Given the description of an element on the screen output the (x, y) to click on. 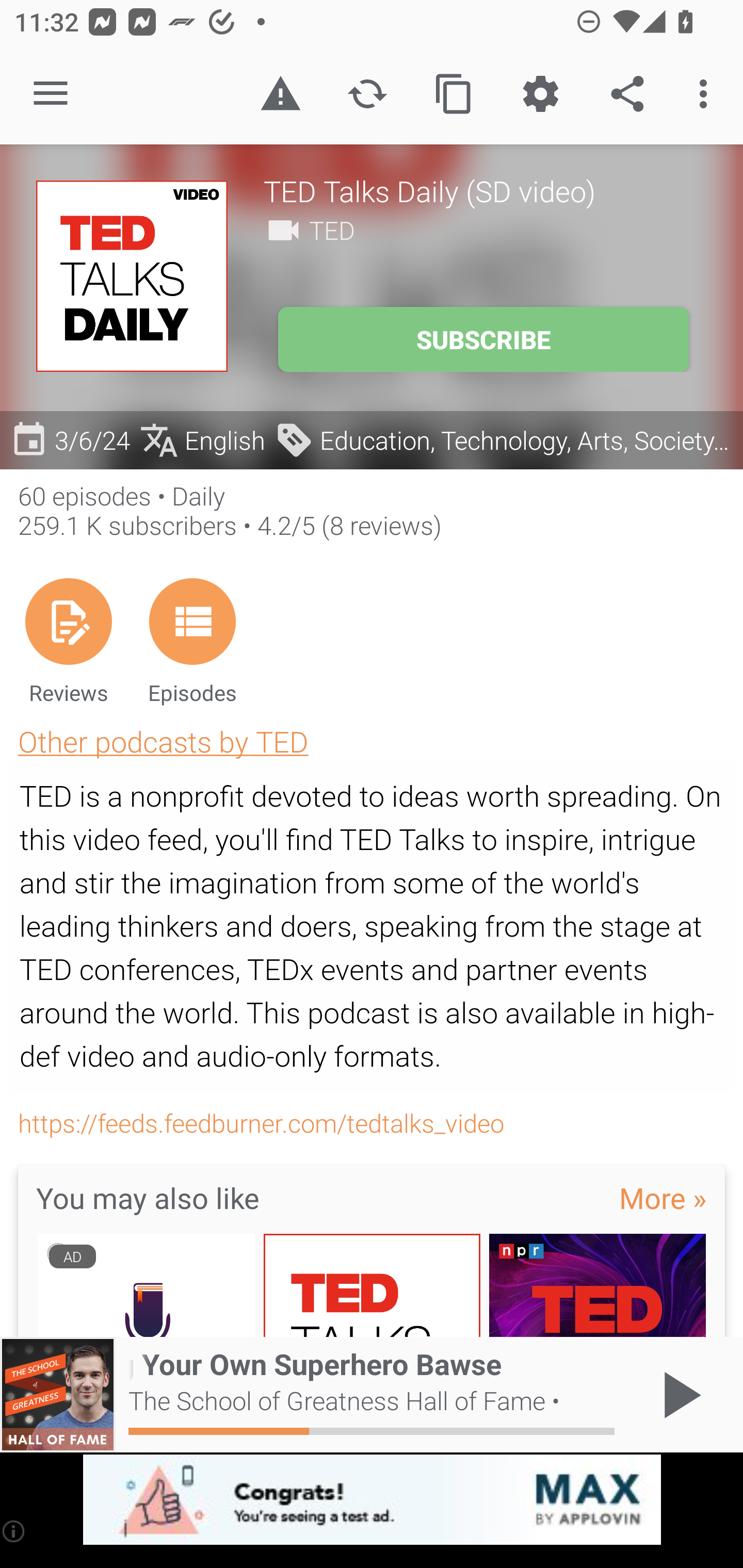
Open navigation sidebar (50, 93)
Report inappropriate content (280, 93)
Refresh podcast description (366, 93)
Copy feed url to clipboard (453, 93)
Custom Settings (540, 93)
Share the podcast (626, 93)
More options (706, 93)
TED Talks Daily (SD video) (484, 190)
TED (332, 230)
SUBSCRIBE (482, 339)
Reviews (68, 640)
Episodes (192, 640)
Other podcasts by TED (162, 740)
More » (662, 1196)
AD (145, 1285)
Play / Pause (677, 1394)
app-monetization (371, 1500)
(i) (14, 1531)
